Given the description of an element on the screen output the (x, y) to click on. 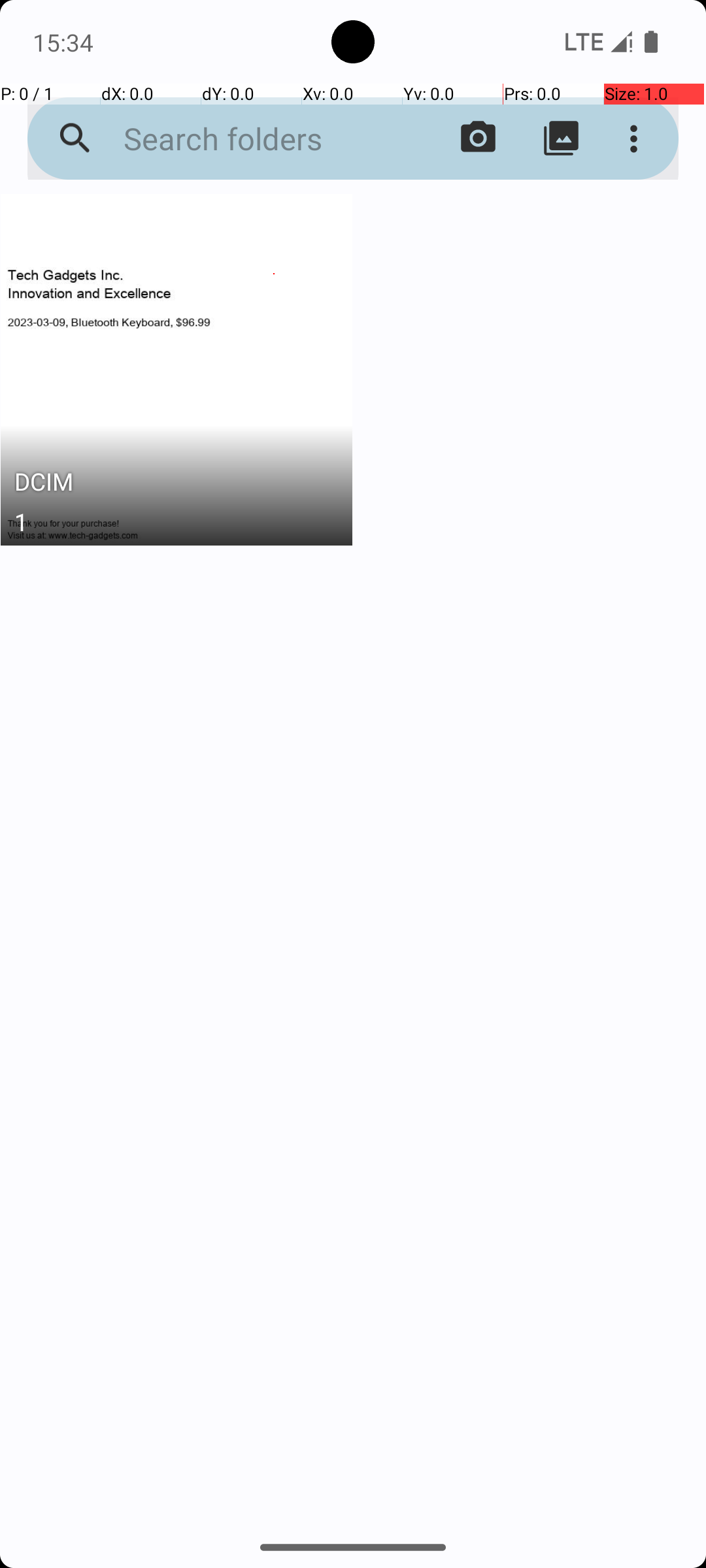
Open camera Element type: android.widget.Button (477, 138)
Show all folders content Element type: android.widget.Button (560, 138)
DCIM Element type: android.widget.TextView (176, 484)
